Given the description of an element on the screen output the (x, y) to click on. 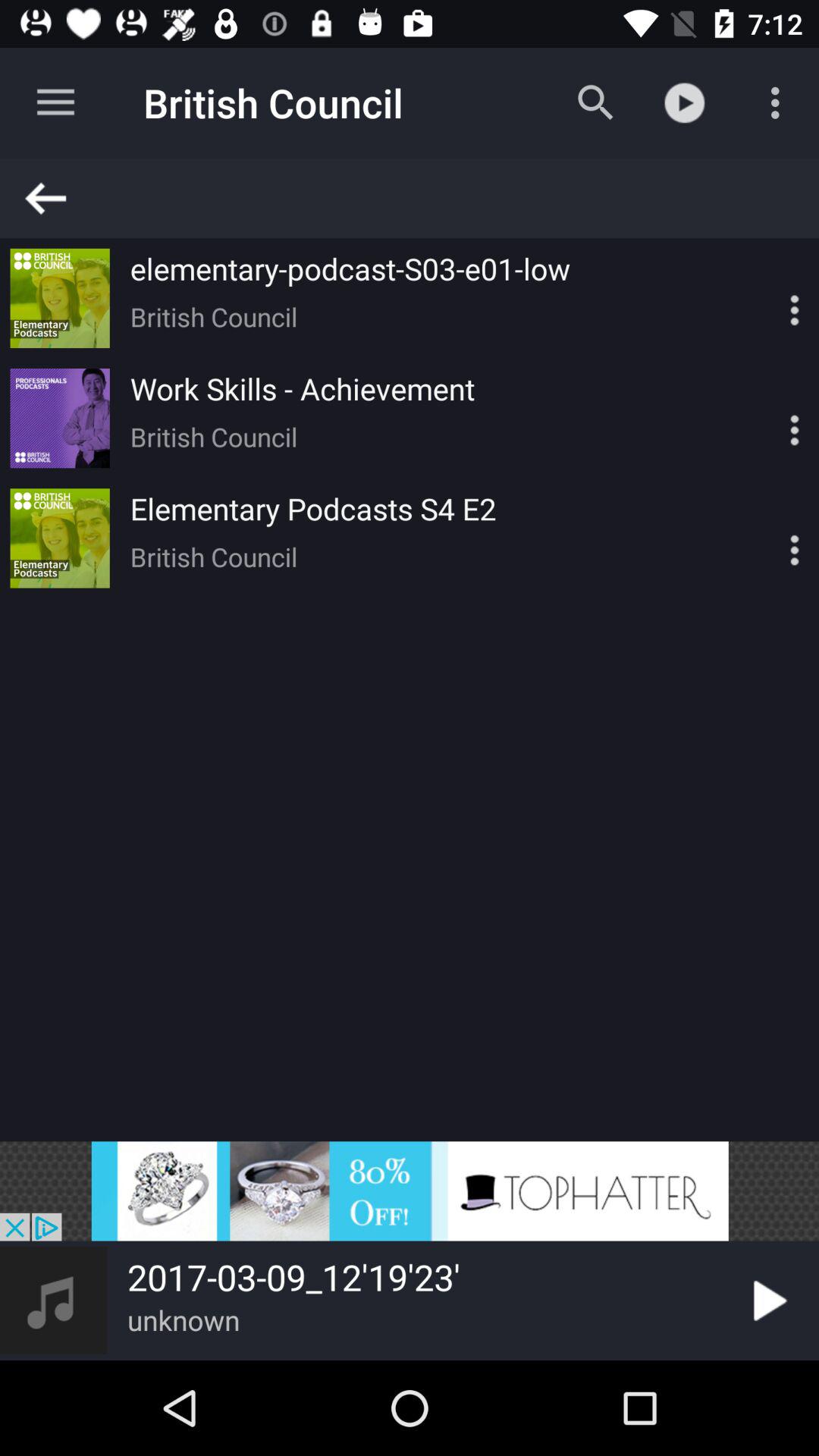
play the song (767, 1300)
